Given the description of an element on the screen output the (x, y) to click on. 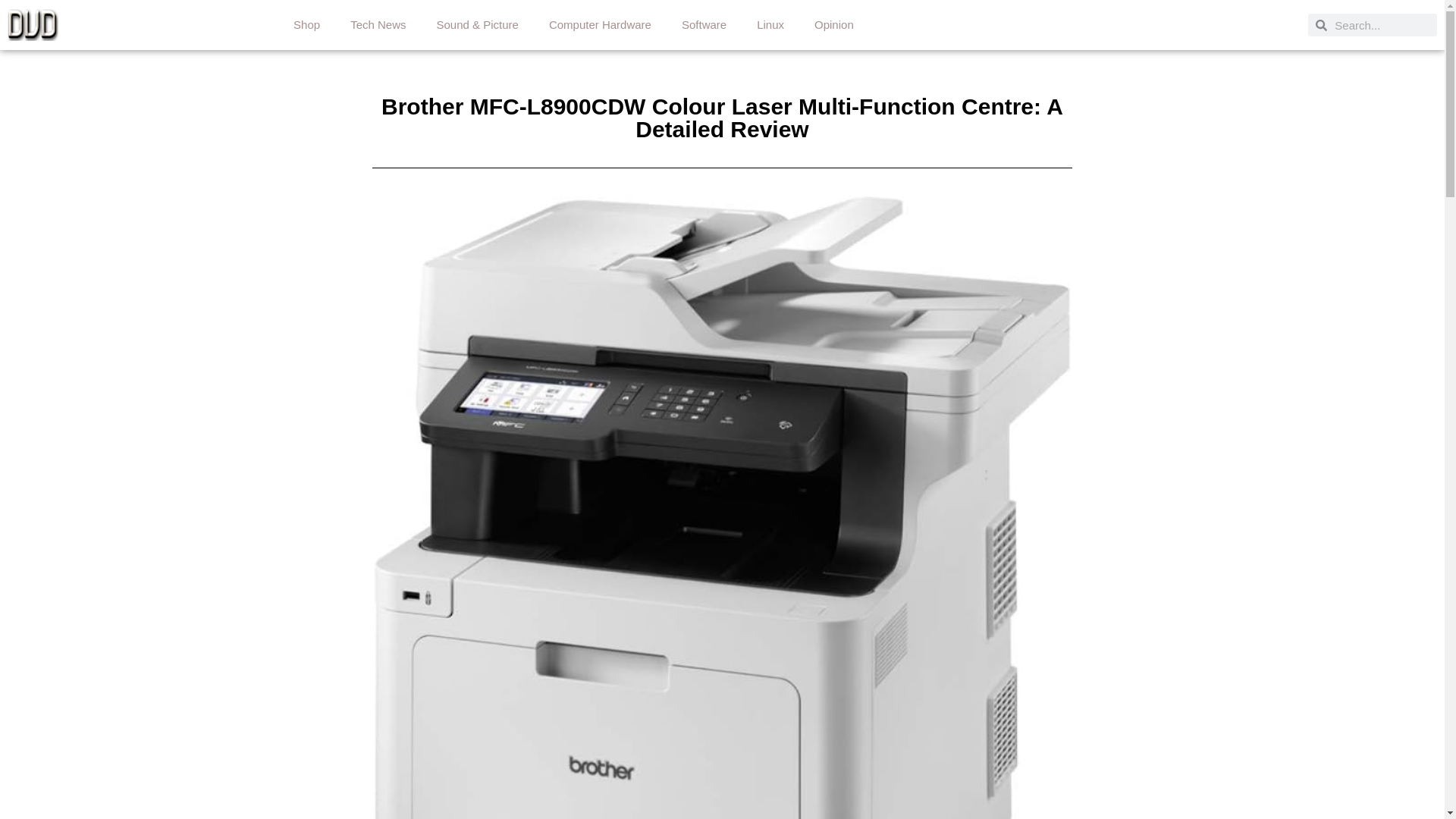
Computer Hardware (600, 24)
Software (703, 24)
Shop (306, 24)
Tech News (377, 24)
Linux (770, 24)
Opinion (834, 24)
